Given the description of an element on the screen output the (x, y) to click on. 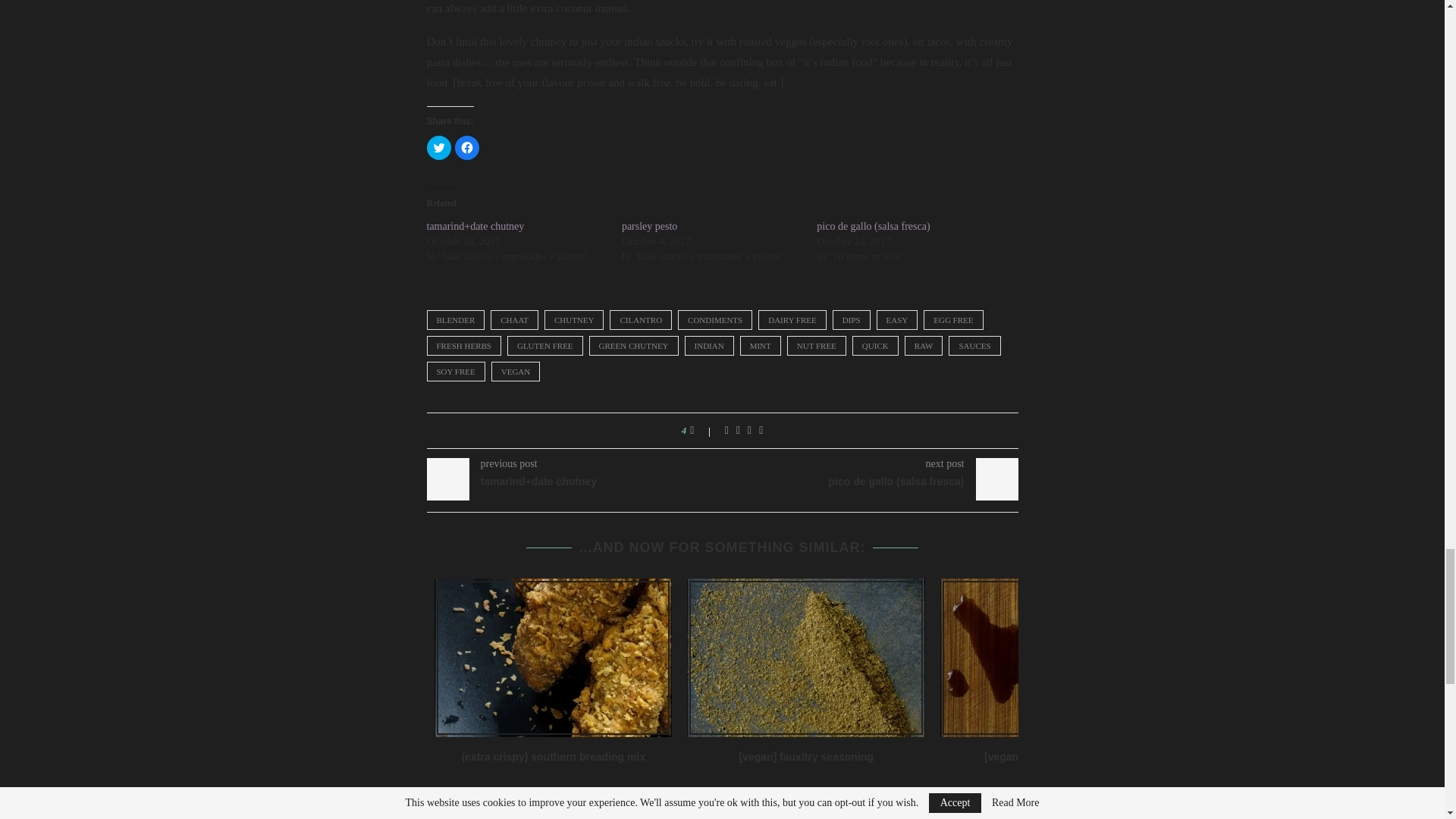
CHAAT (514, 320)
Like (702, 430)
EGG FREE (952, 320)
BLENDER (455, 320)
Click to share on Twitter (437, 147)
CILANTRO (640, 320)
CONDIMENTS (715, 320)
parsley pesto (649, 225)
EASY (897, 320)
CHUTNEY (574, 320)
Click to share on Facebook (466, 147)
DAIRY FREE (791, 320)
DIPS (851, 320)
parsley pesto (649, 225)
FRESH HERBS (463, 345)
